Given the description of an element on the screen output the (x, y) to click on. 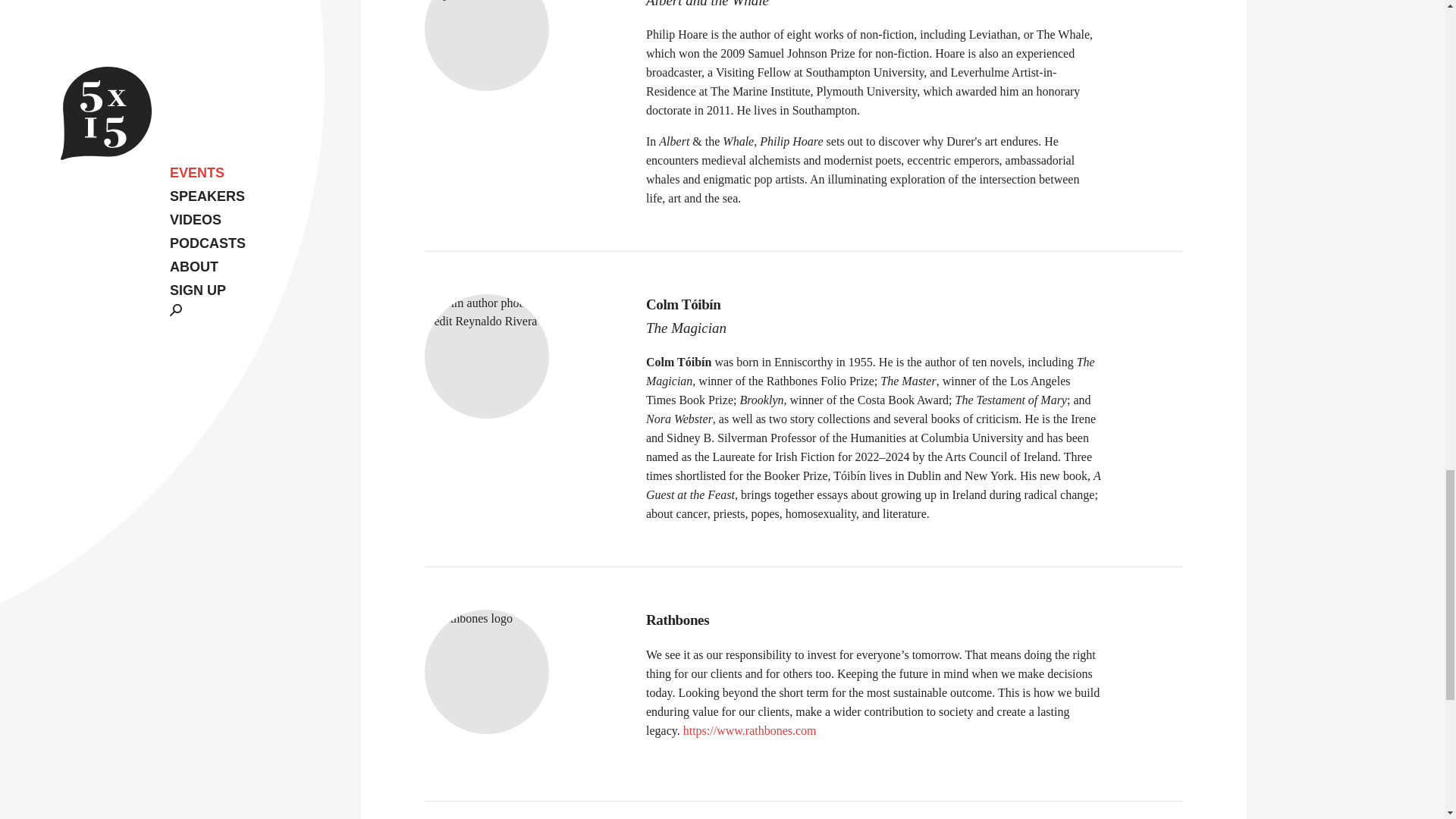
Rathbones (873, 620)
